Given the description of an element on the screen output the (x, y) to click on. 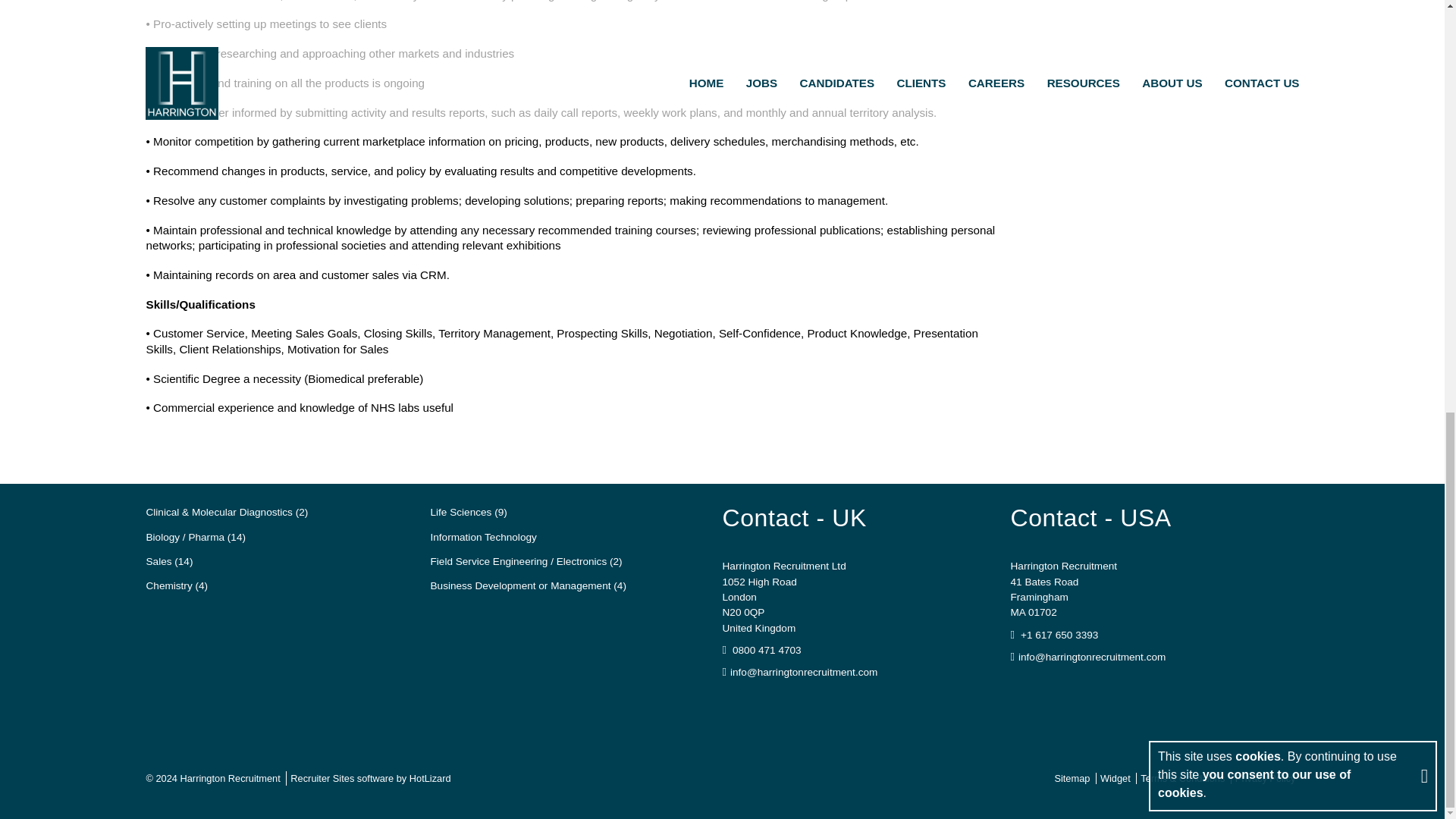
Pin with us on Pinterest! (828, 703)
Follow us on Facebook (733, 703)
Life Sciences (468, 512)
Follow us on X (796, 703)
Chemistry (176, 586)
Business Development or Management (528, 586)
Follow us on LinkedIn (765, 703)
Information Technology (483, 537)
Sales (168, 561)
